Given the description of an element on the screen output the (x, y) to click on. 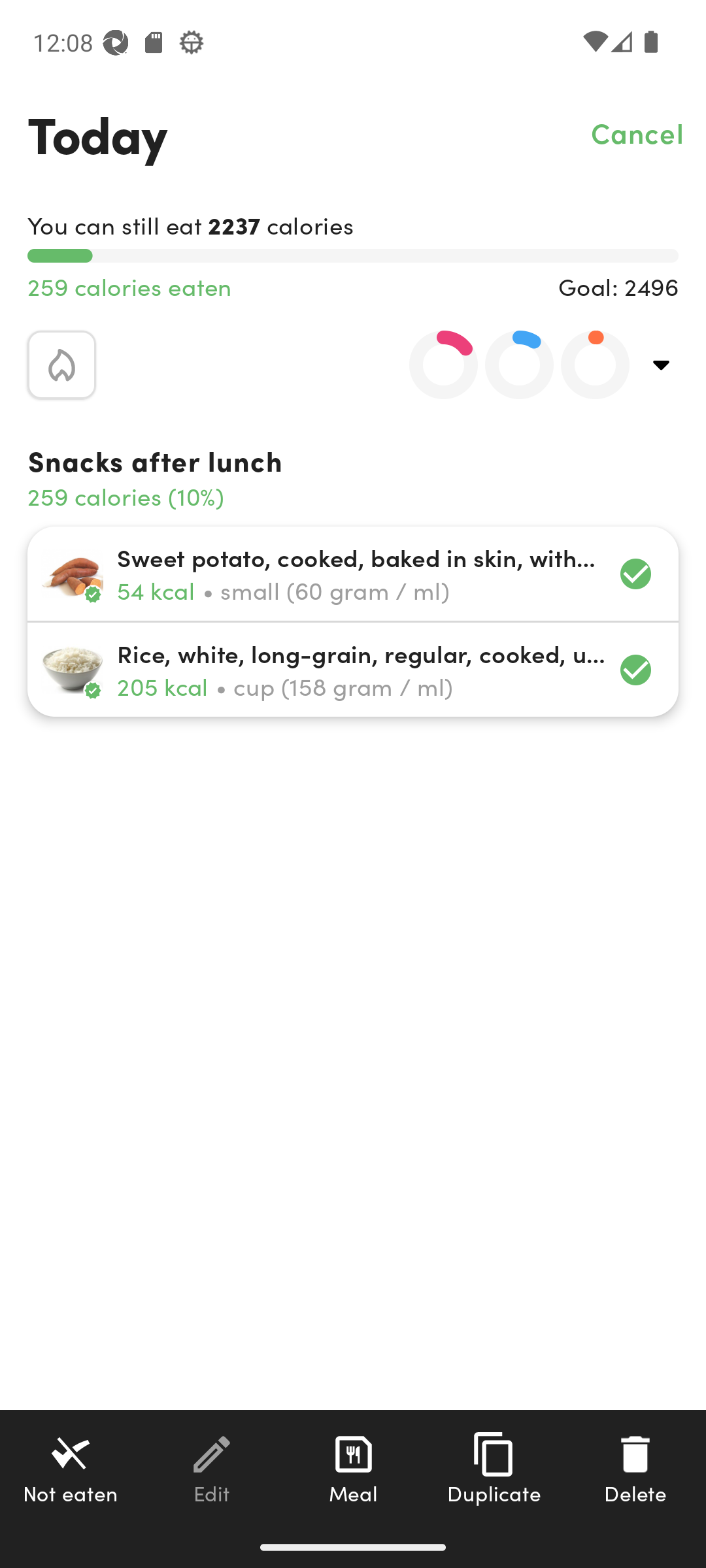
Cancel (637, 132)
calorie_icon (62, 365)
0.15 0.09 0.01 (508, 365)
top_right_action (661, 365)
Not eaten (70, 1468)
Edit (211, 1468)
Meal (352, 1468)
Duplicate (493, 1468)
Delete (635, 1468)
